Given the description of an element on the screen output the (x, y) to click on. 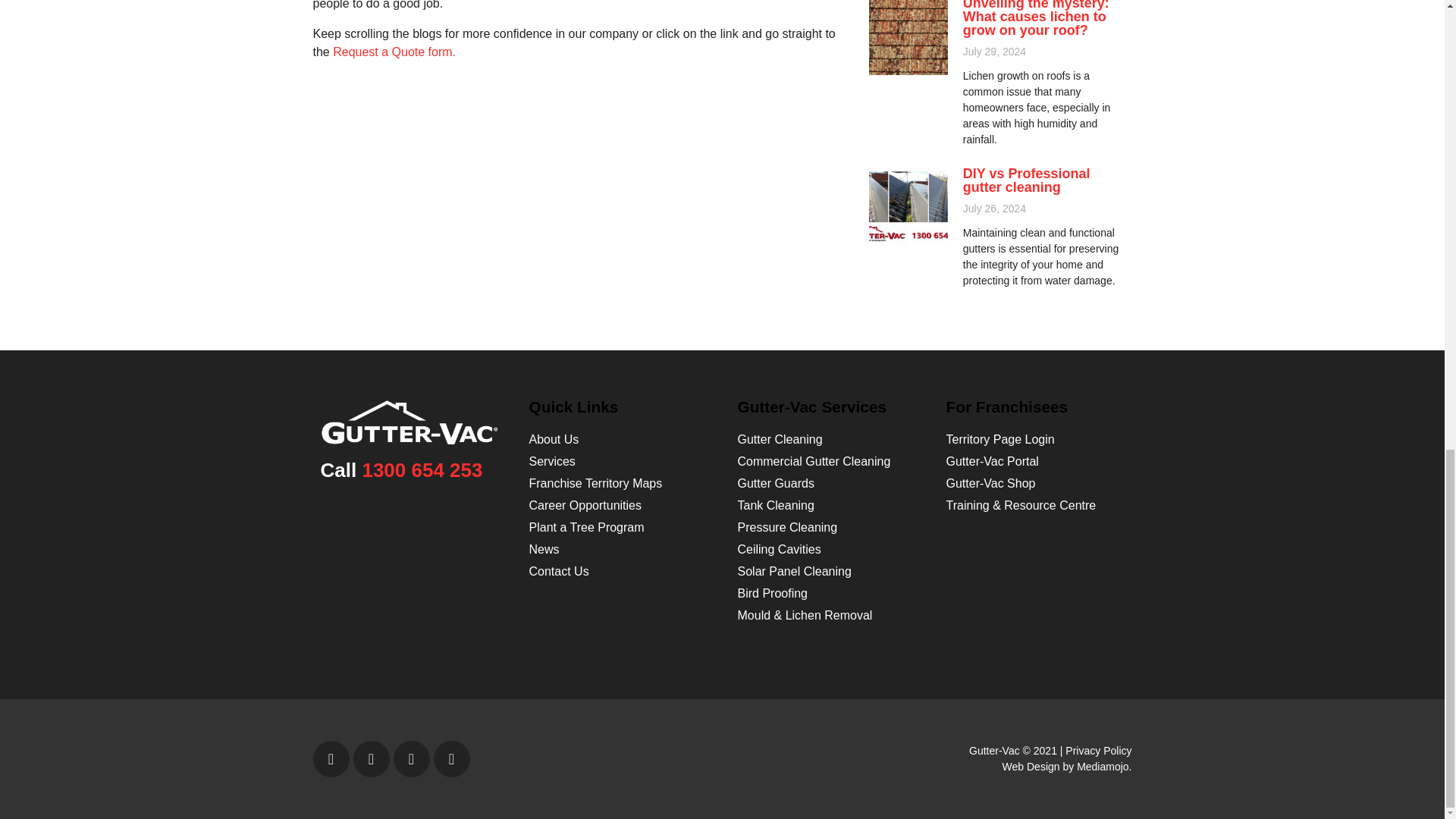
Gutter-Vac Portal (992, 461)
About Us (554, 439)
Bird Proofing (772, 593)
News (544, 549)
Plant a Tree Program (587, 526)
Career Opportunities (585, 504)
Contact Us (559, 571)
Gutter Cleaning (779, 439)
Solar Panel Cleaning (793, 571)
1300 654 253 (421, 469)
Commercial Gutter Cleaning (812, 461)
Tank Cleaning (774, 504)
Pressure Cleaning (786, 526)
Territory Page Login (1000, 439)
